Given the description of an element on the screen output the (x, y) to click on. 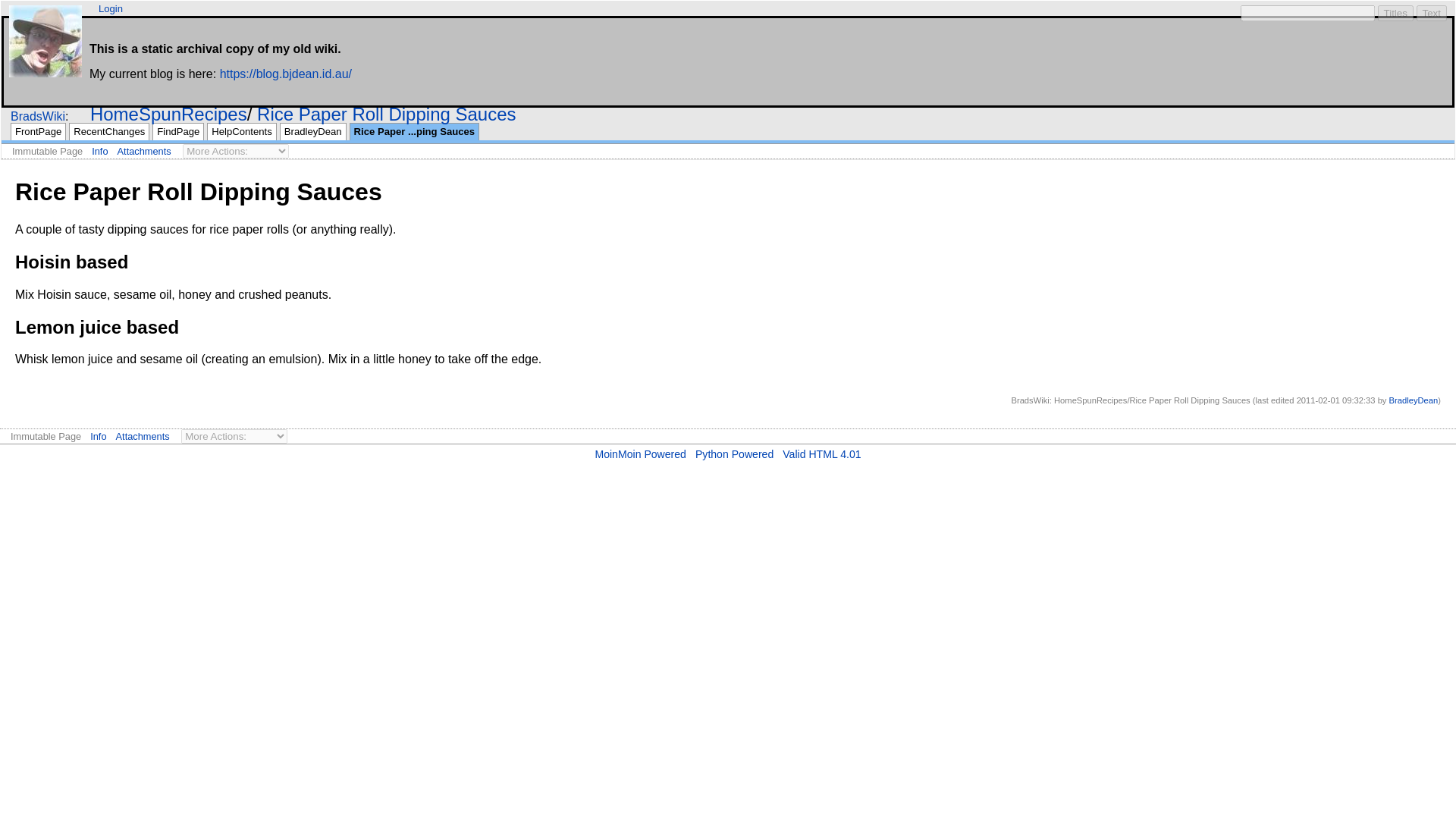
Rice Paper Roll Dipping Sauces (386, 114)
Rice Paper ...ping Sauces (414, 131)
BradleyDean (312, 131)
BradleyDean (1413, 399)
Text (1431, 12)
HelpContents (240, 131)
Info (98, 436)
Click to do a full-text search for this title (386, 114)
Titles (1395, 12)
HomeSpunRecipes (168, 114)
